Given the description of an element on the screen output the (x, y) to click on. 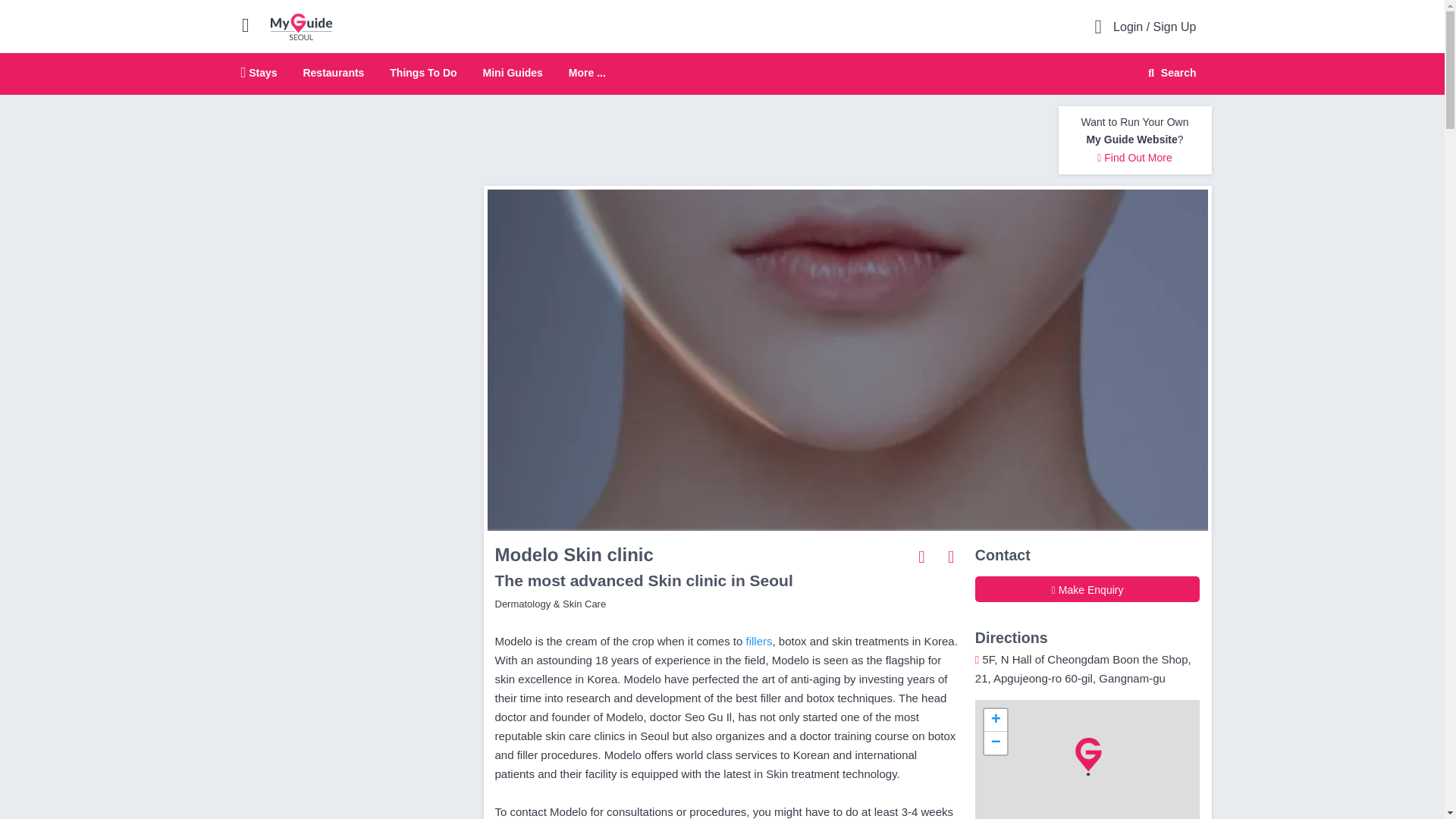
Restaurants (333, 72)
More ... (587, 72)
Search Website (1170, 73)
Zoom in (995, 720)
Search (1169, 72)
Stays (259, 72)
Zoom out (995, 743)
My Guide Seoul (300, 25)
Mini Guides (513, 72)
fillers (759, 640)
Find Out More (721, 74)
Things To Do (1134, 157)
